Given the description of an element on the screen output the (x, y) to click on. 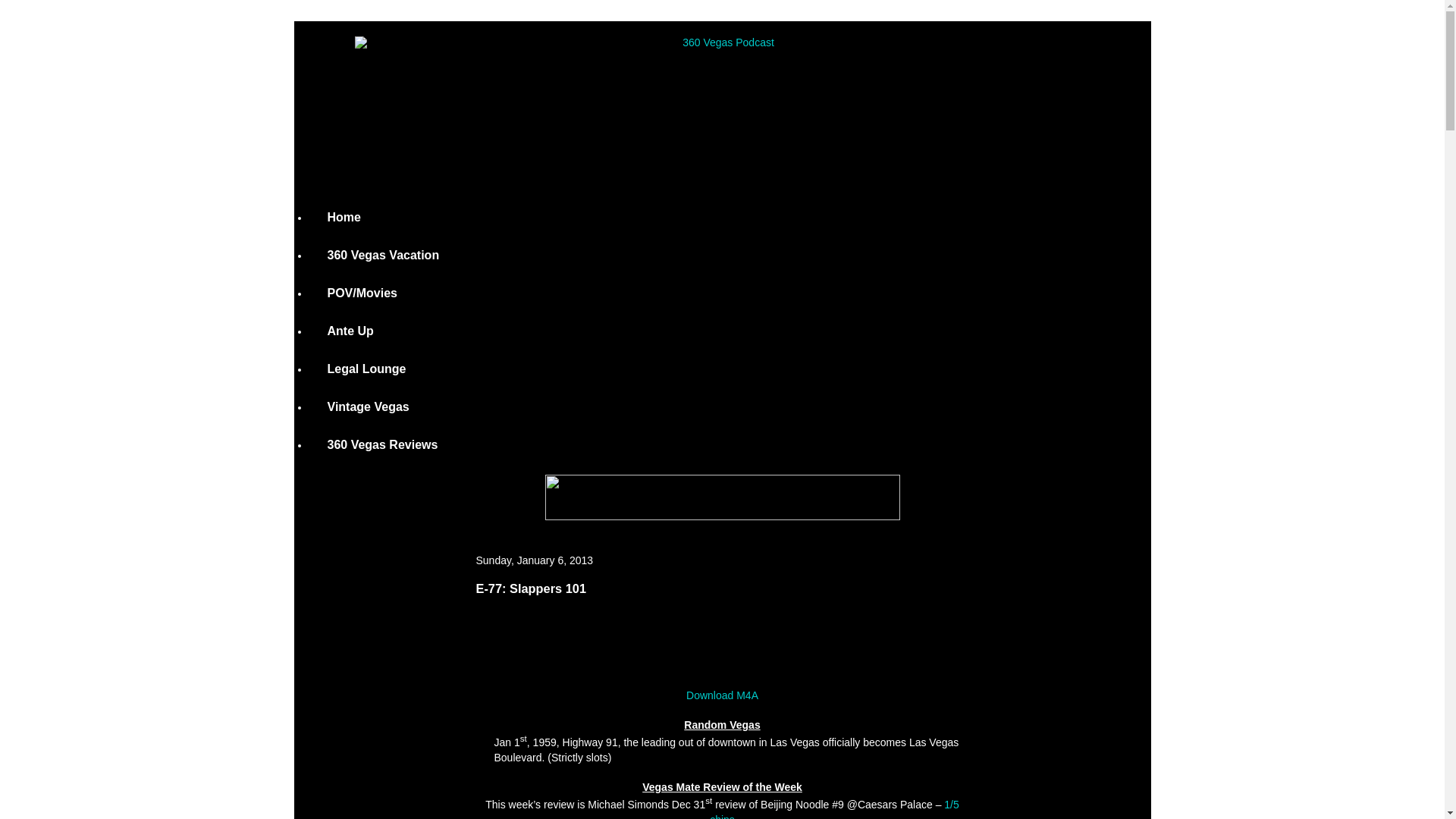
Ante Up Element type: text (350, 331)
Vintage Vegas Element type: text (368, 407)
Legal Lounge Element type: text (366, 369)
360 Vegas Reviews Element type: text (382, 445)
POV/Movies Element type: text (362, 293)
360 Vegas Vacation Element type: text (383, 255)
Download M4A Element type: text (722, 695)
Home Element type: text (344, 217)
